Given the description of an element on the screen output the (x, y) to click on. 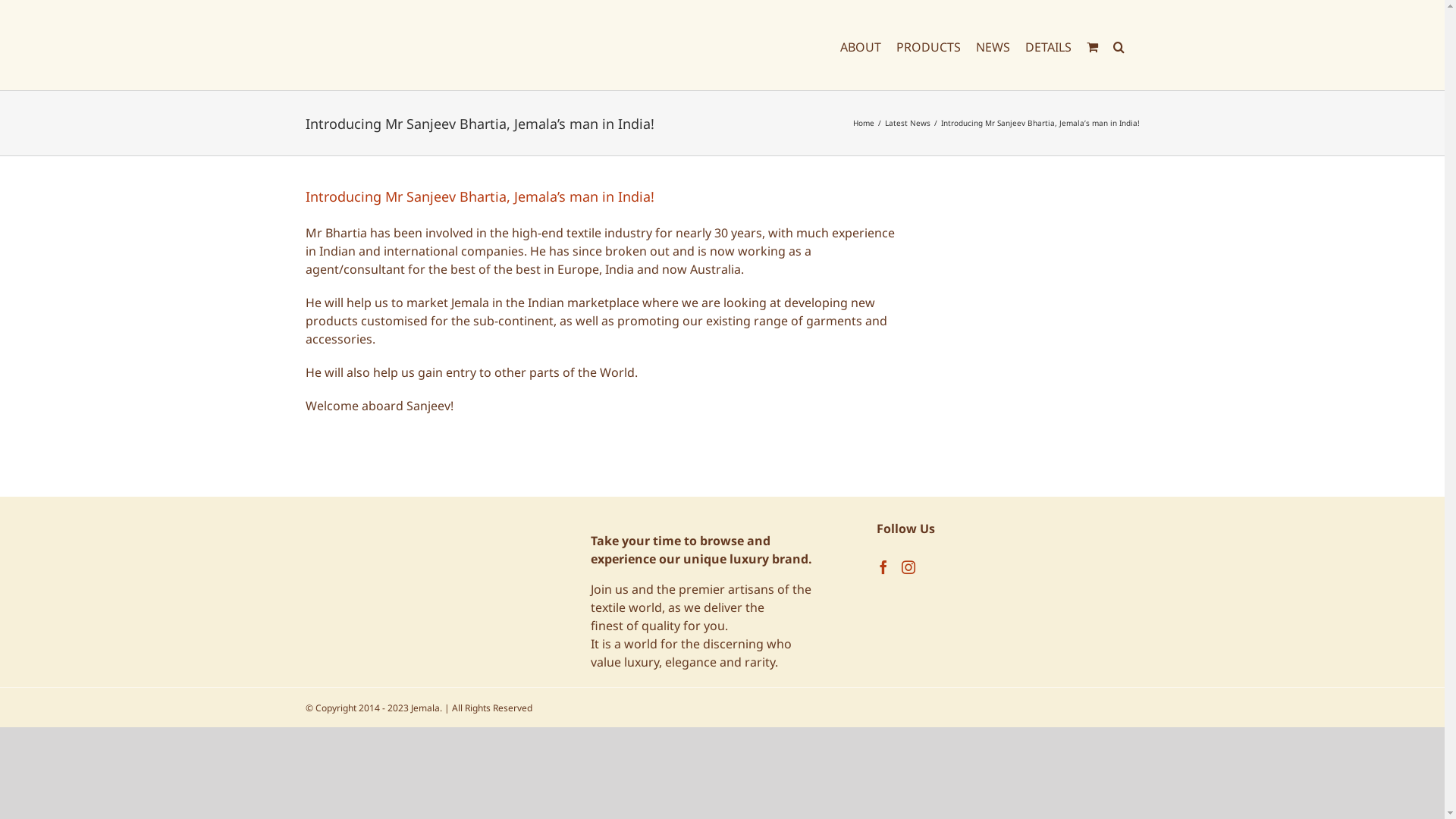
DETAILS Element type: text (1048, 45)
eWAY Payment Gateway Element type: hover (418, 555)
NEWS Element type: text (992, 45)
Instagram Element type: hover (908, 567)
Search Element type: hover (1118, 45)
PRODUCTS Element type: text (928, 45)
Latest News Element type: text (906, 122)
Facebook Element type: hover (883, 567)
Sanjeev-Bhartia-1 Element type: hover (1014, 337)
ABOUT Element type: text (860, 45)
Home Element type: text (862, 122)
